Given the description of an element on the screen output the (x, y) to click on. 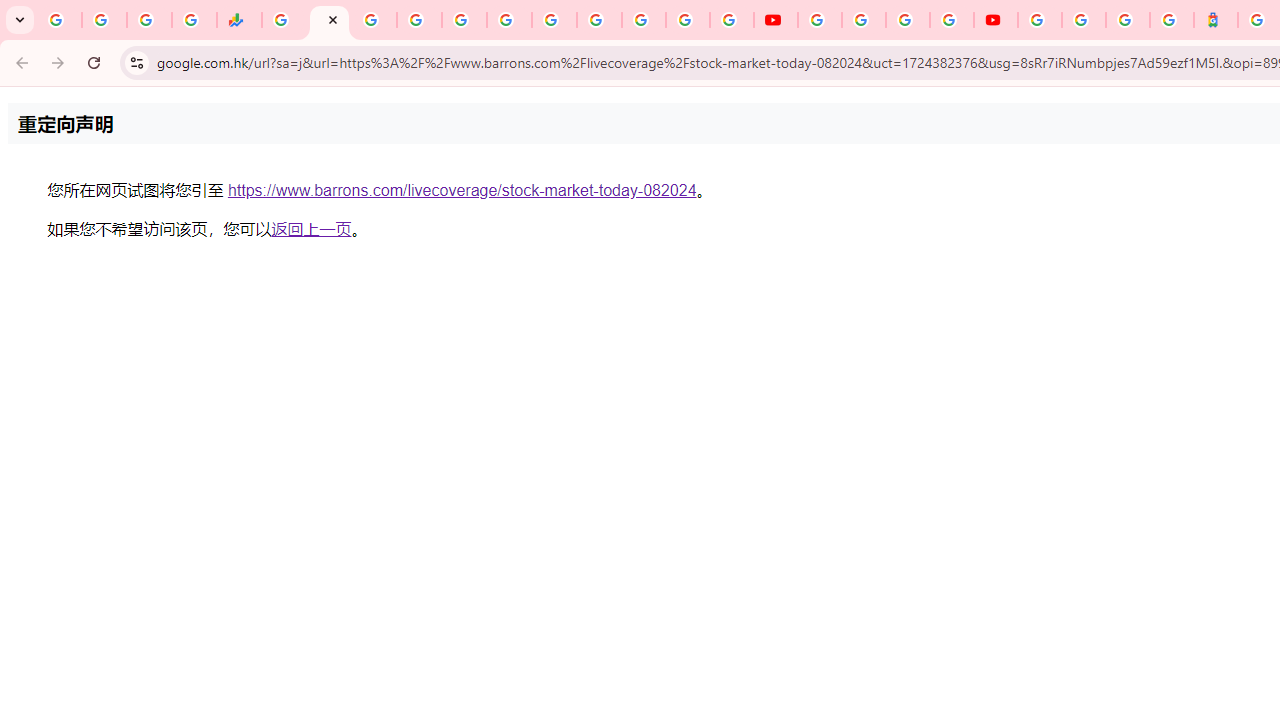
Content Creator Programs & Opportunities - YouTube Creators (995, 20)
YouTube (599, 20)
YouTube (819, 20)
YouTube (775, 20)
Sign in - Google Accounts (418, 20)
Atour Hotel - Google hotels (1215, 20)
Create your Google Account (907, 20)
